Given the description of an element on the screen output the (x, y) to click on. 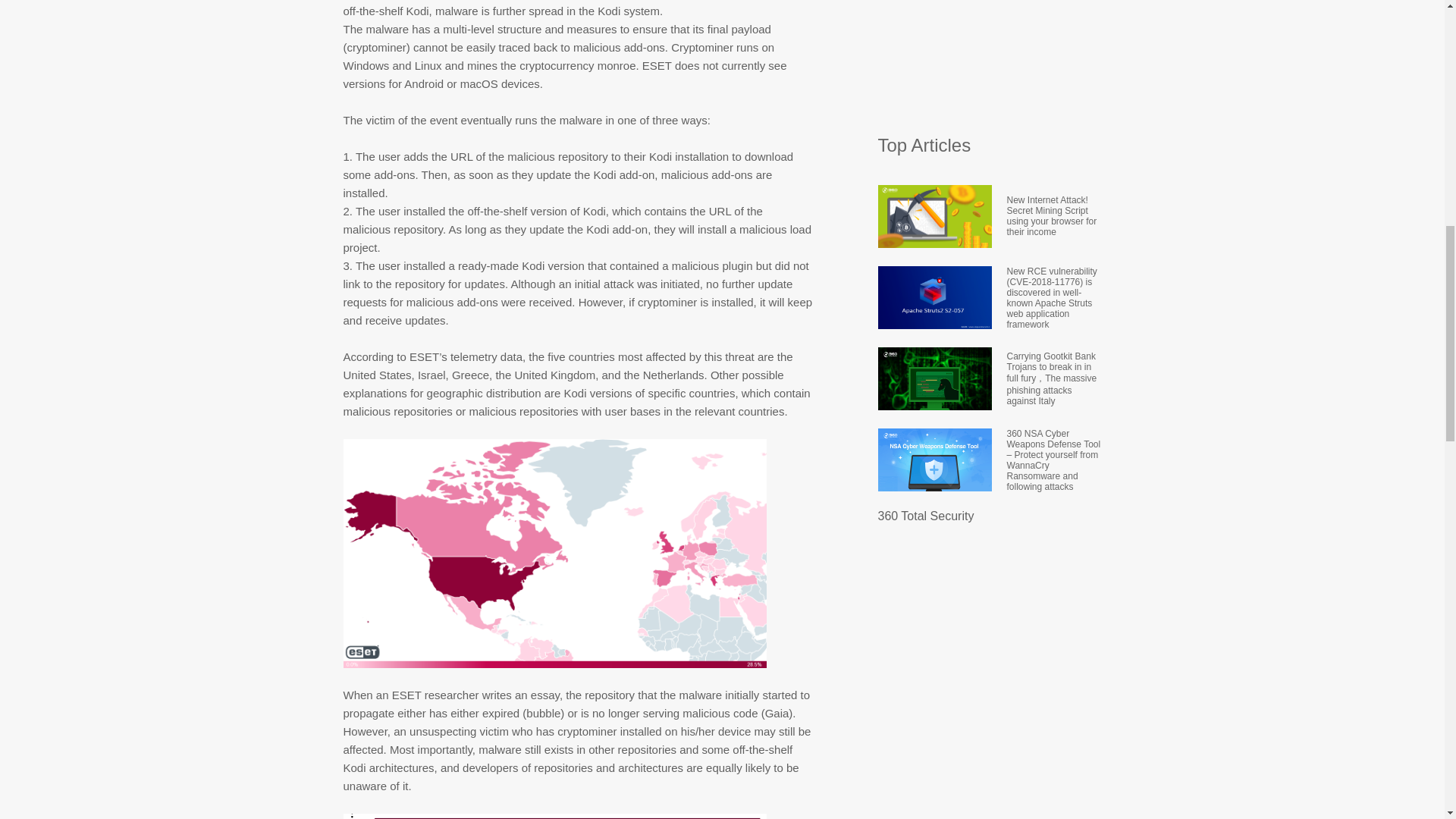
360 Total Security (925, 515)
Advertisement (991, 58)
